Given the description of an element on the screen output the (x, y) to click on. 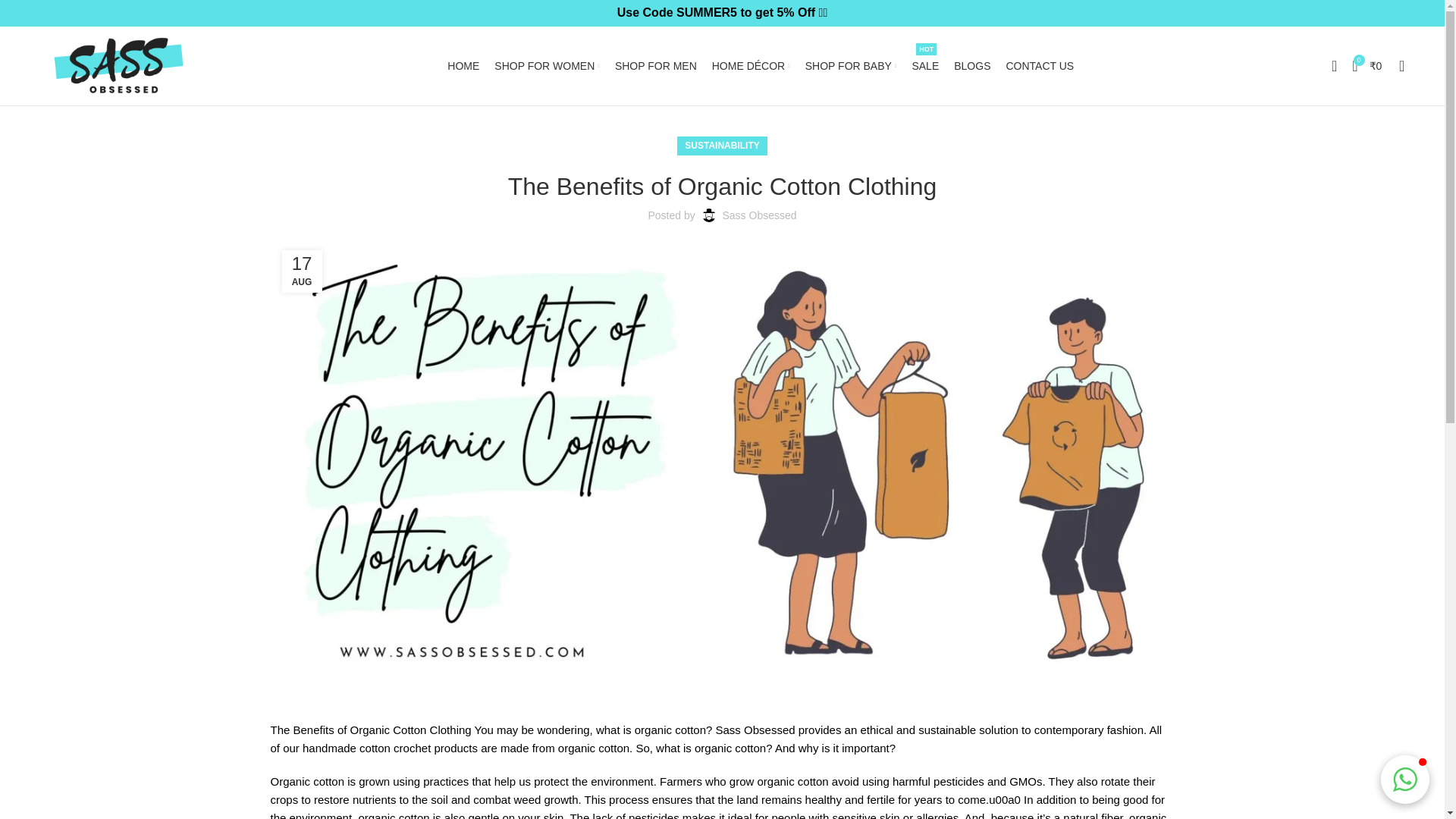
Log in (1210, 310)
SHOP FOR MEN (655, 65)
Shopping cart (1366, 65)
CONTACT US (1040, 65)
SHOP FOR BABY (850, 65)
HOME (462, 65)
BLOGS (971, 65)
SHOP FOR WOMEN (547, 65)
